Given the description of an element on the screen output the (x, y) to click on. 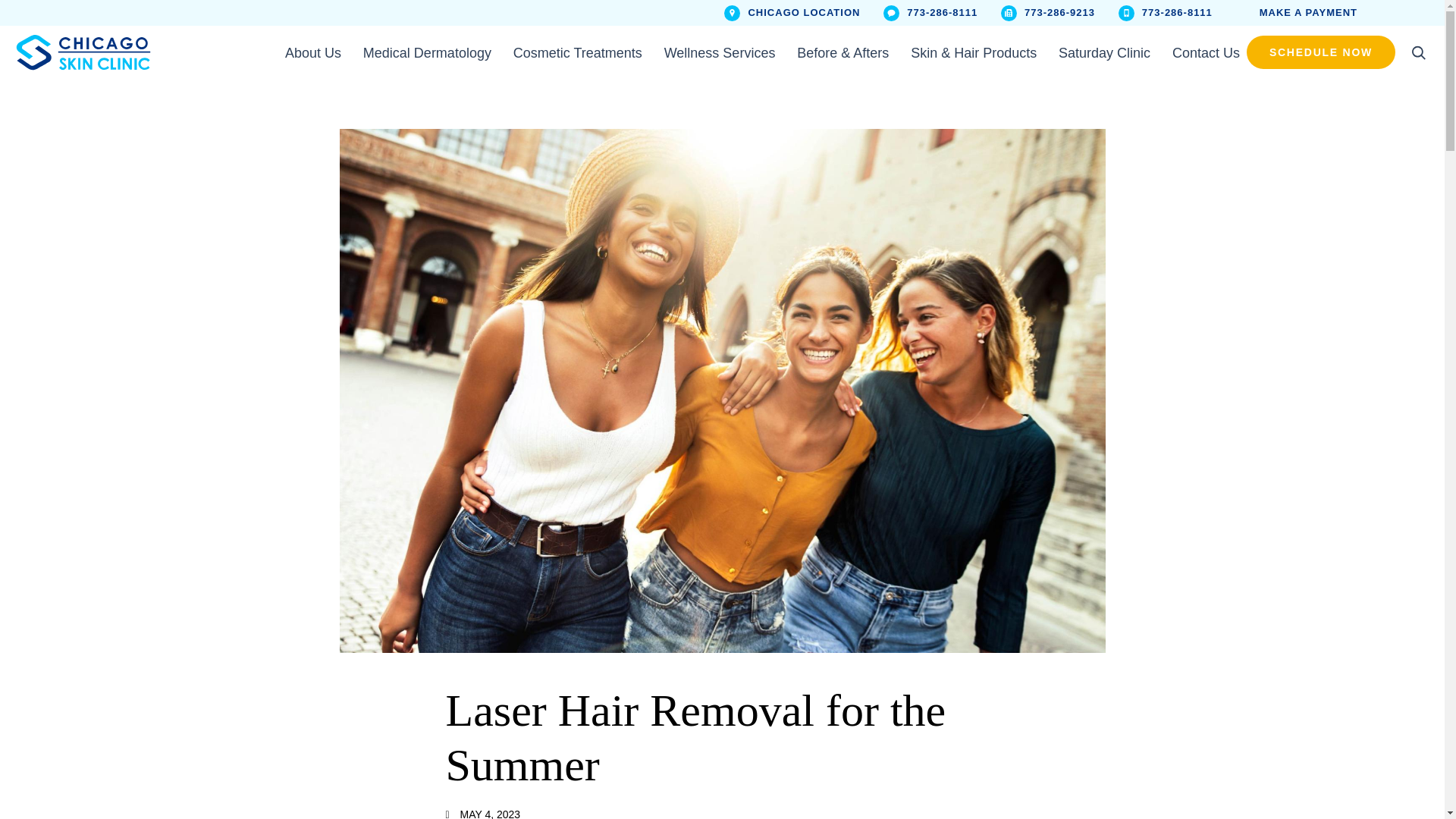
Cosmetic Treatments (577, 52)
773-286-8111 (929, 12)
773-286-8111 (1165, 12)
Medical Dermatology (427, 52)
773-286-9213 (1047, 12)
Wellness Services (719, 52)
MAKE A PAYMENT (1296, 12)
About Us (312, 52)
CHICAGO LOCATION (791, 12)
